Given the description of an element on the screen output the (x, y) to click on. 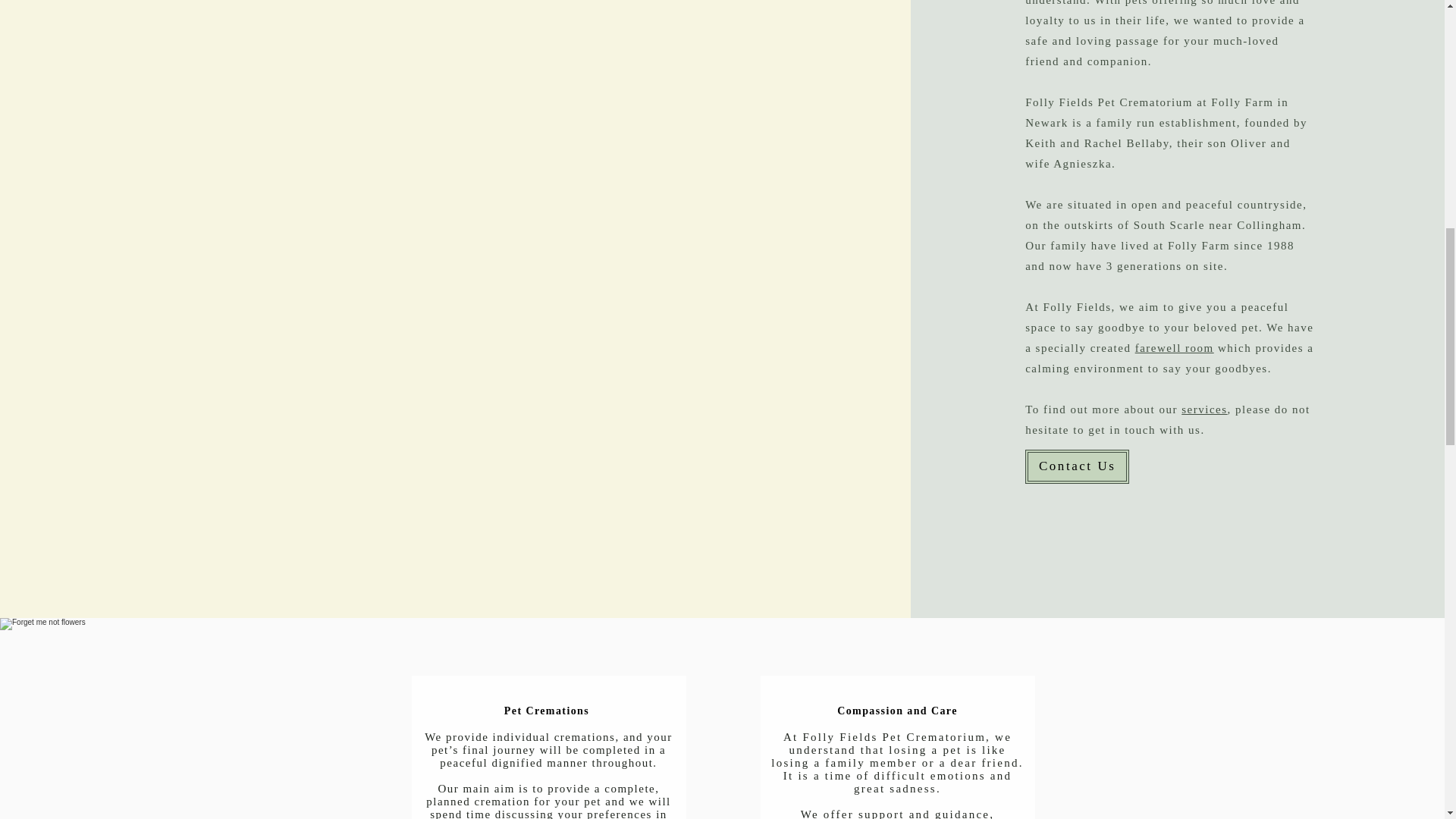
services (1203, 409)
Contact Us (1077, 466)
farewell room (1174, 347)
